Given the description of an element on the screen output the (x, y) to click on. 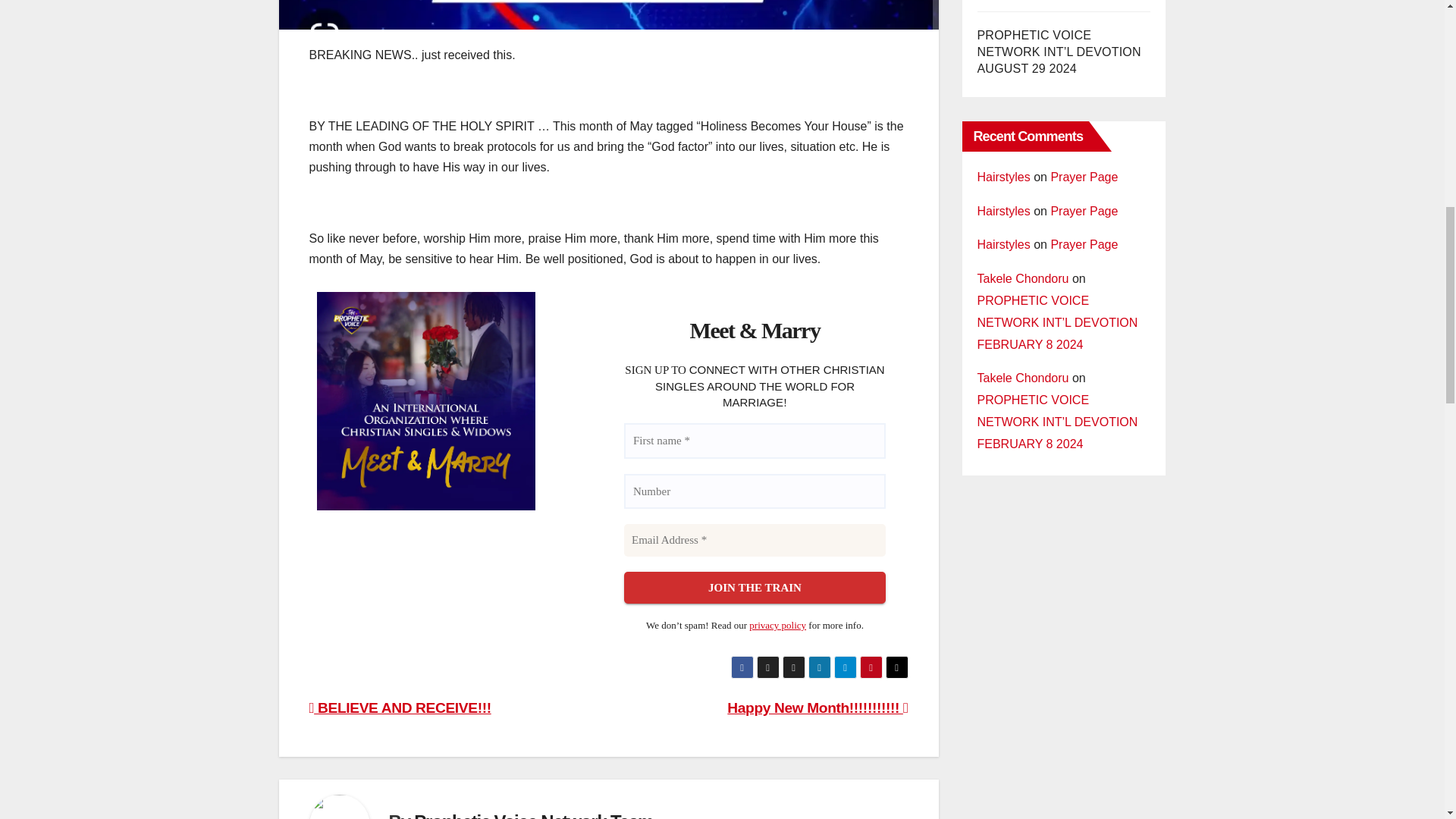
JOIN THE TRAIN (754, 587)
JOIN THE TRAIN (754, 587)
Number (754, 491)
Email Address (754, 540)
First name (754, 440)
Prophetic Voice Network Team (532, 815)
Happy New Month!!!!!!!!!!! (816, 707)
BELIEVE AND RECEIVE!!! (400, 707)
privacy policy (777, 624)
